Given the description of an element on the screen output the (x, y) to click on. 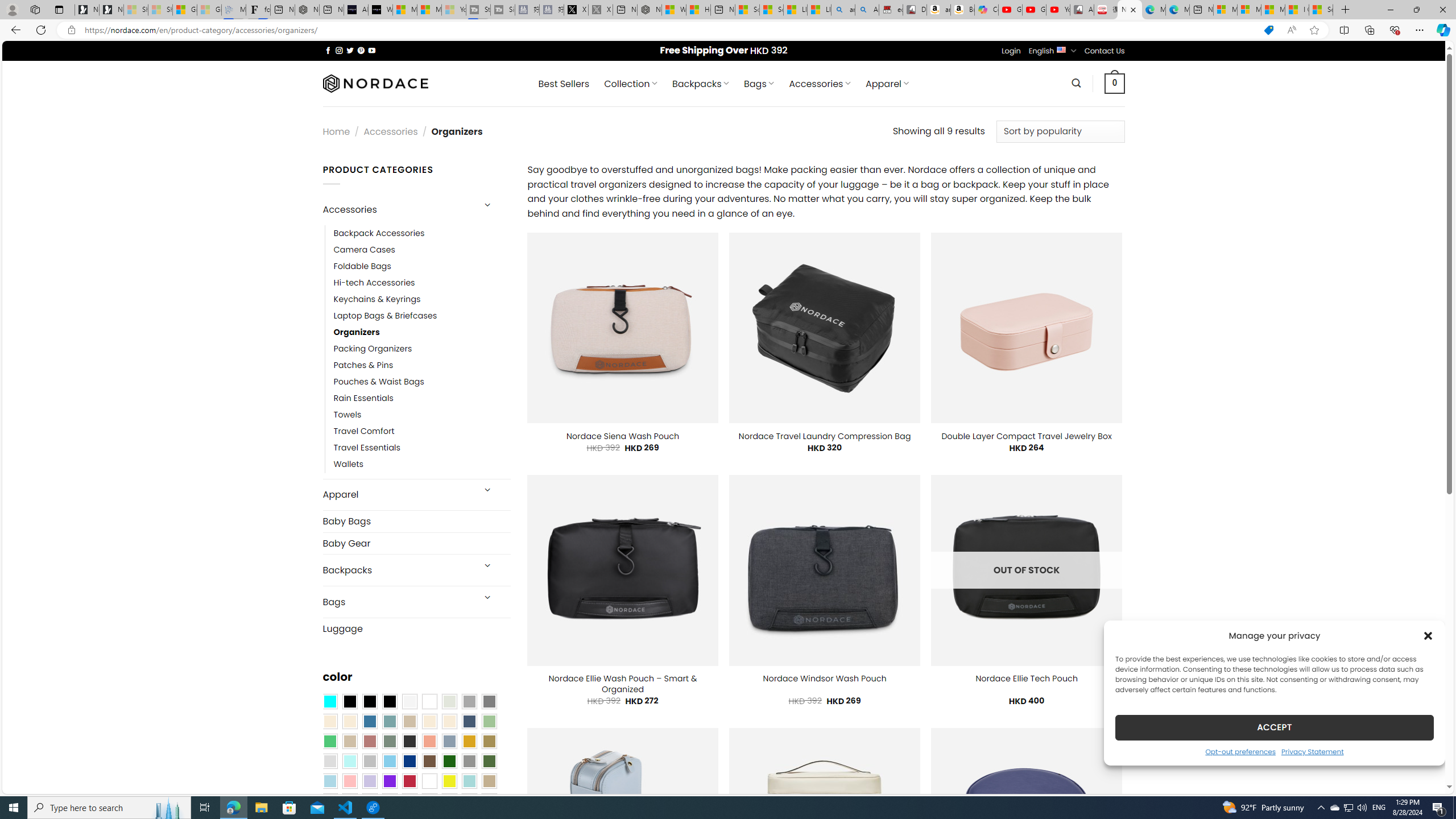
Microsoft account | Privacy (1248, 9)
Black-Brown (389, 701)
AI Voice Changer for PC and Mac - Voice.ai (355, 9)
Pearly White (408, 701)
Baby Gear (416, 543)
Organizers (356, 332)
Patches & Pins (422, 365)
Login (1010, 50)
Beige (329, 721)
Streaming Coverage | T3 - Sleeping (478, 9)
Clear (429, 701)
